Given the description of an element on the screen output the (x, y) to click on. 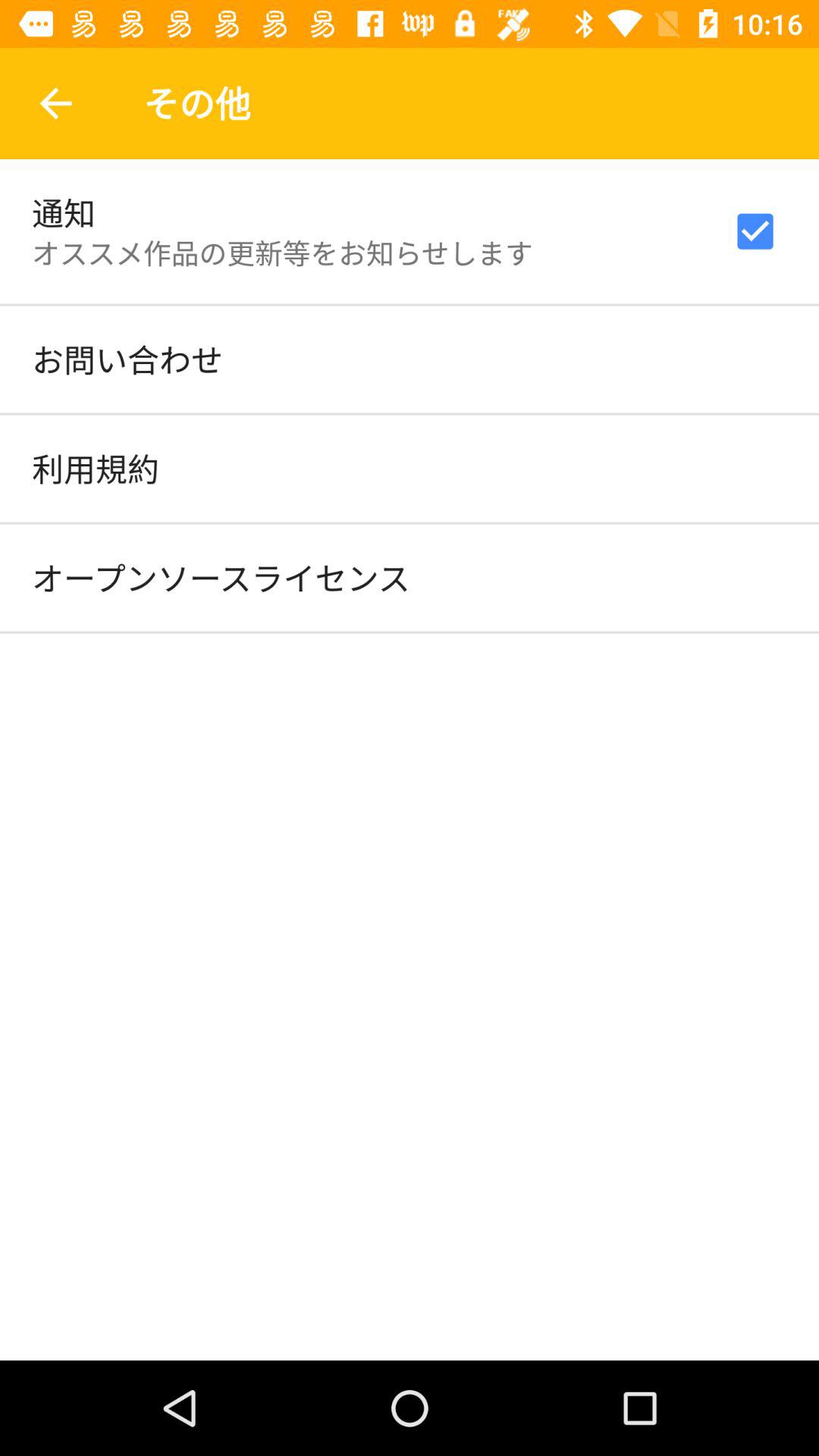
turn on the icon at the top right corner (755, 231)
